Given the description of an element on the screen output the (x, y) to click on. 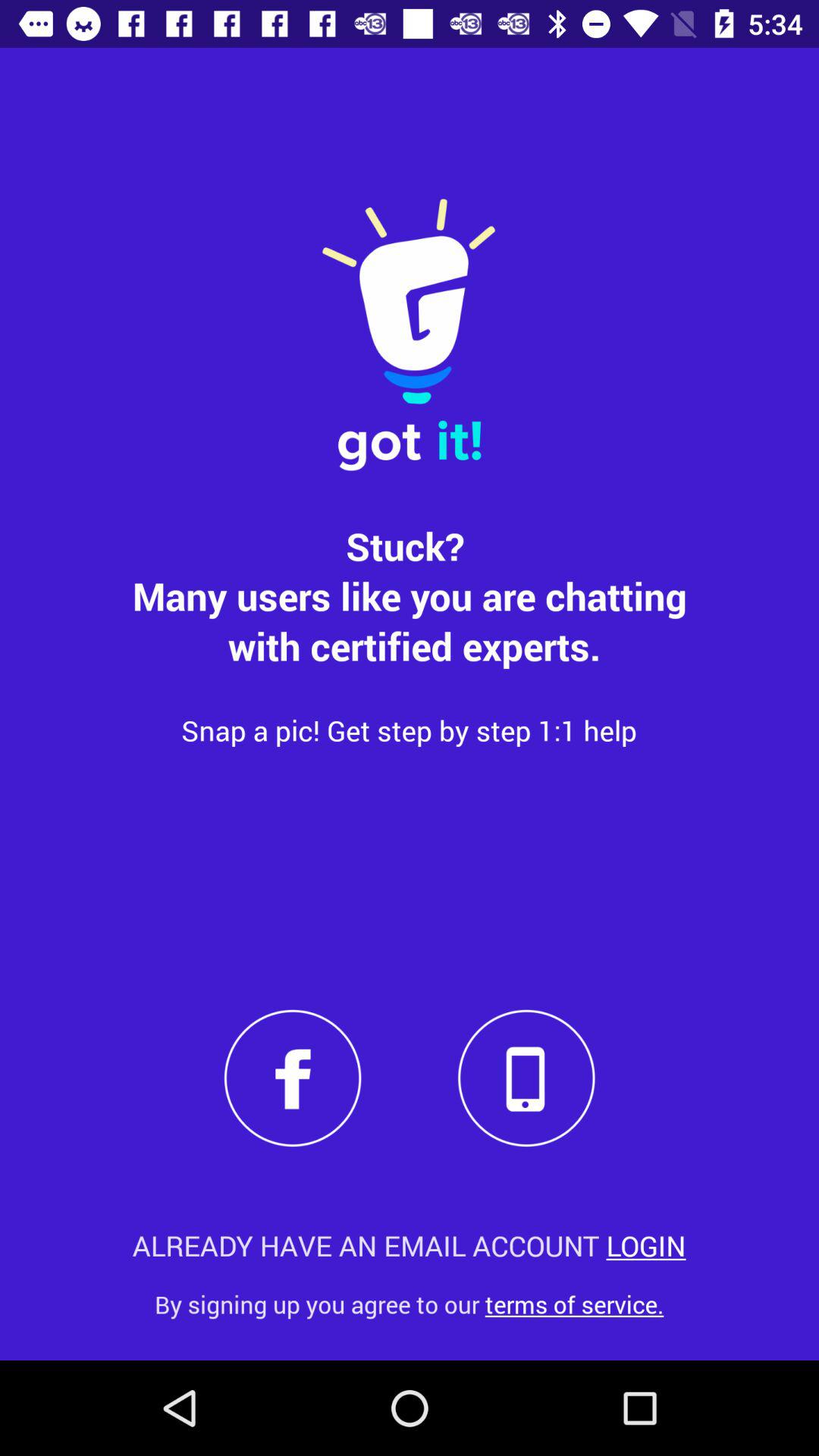
access phone camera (526, 1077)
